Given the description of an element on the screen output the (x, y) to click on. 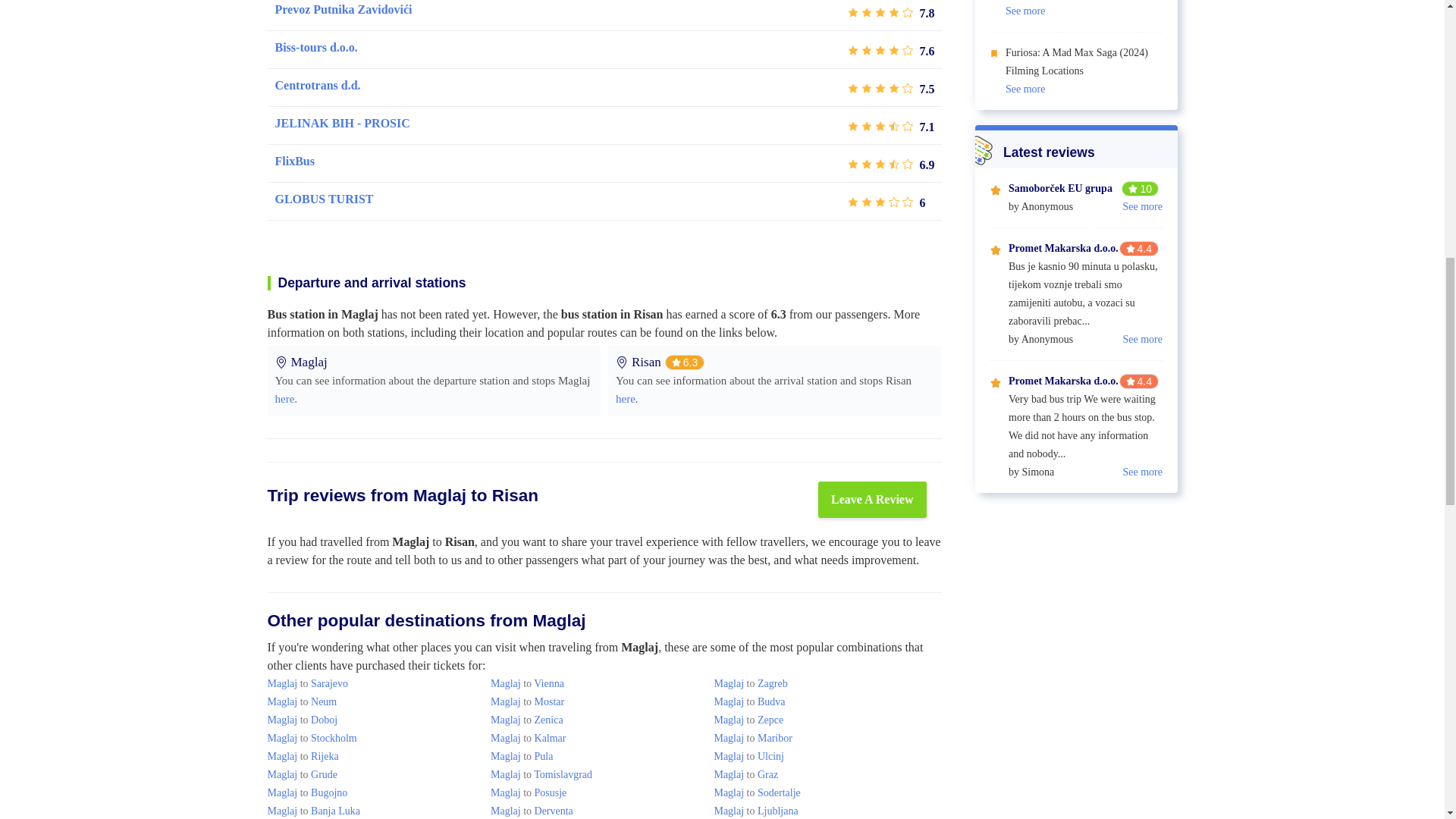
Maglaj to Sarajevo (306, 683)
GLOBUS TURIST (323, 199)
Maglaj to Zenica (526, 719)
JELINAK BIH - PROSIC (342, 123)
Centrotrans d.d. (317, 85)
Biss-tours d.o.o. (315, 47)
Maglaj to Neum (301, 701)
Maglaj to Budva (748, 701)
Leave A Review (872, 499)
Maglaj to Zepce (748, 719)
